Given the description of an element on the screen output the (x, y) to click on. 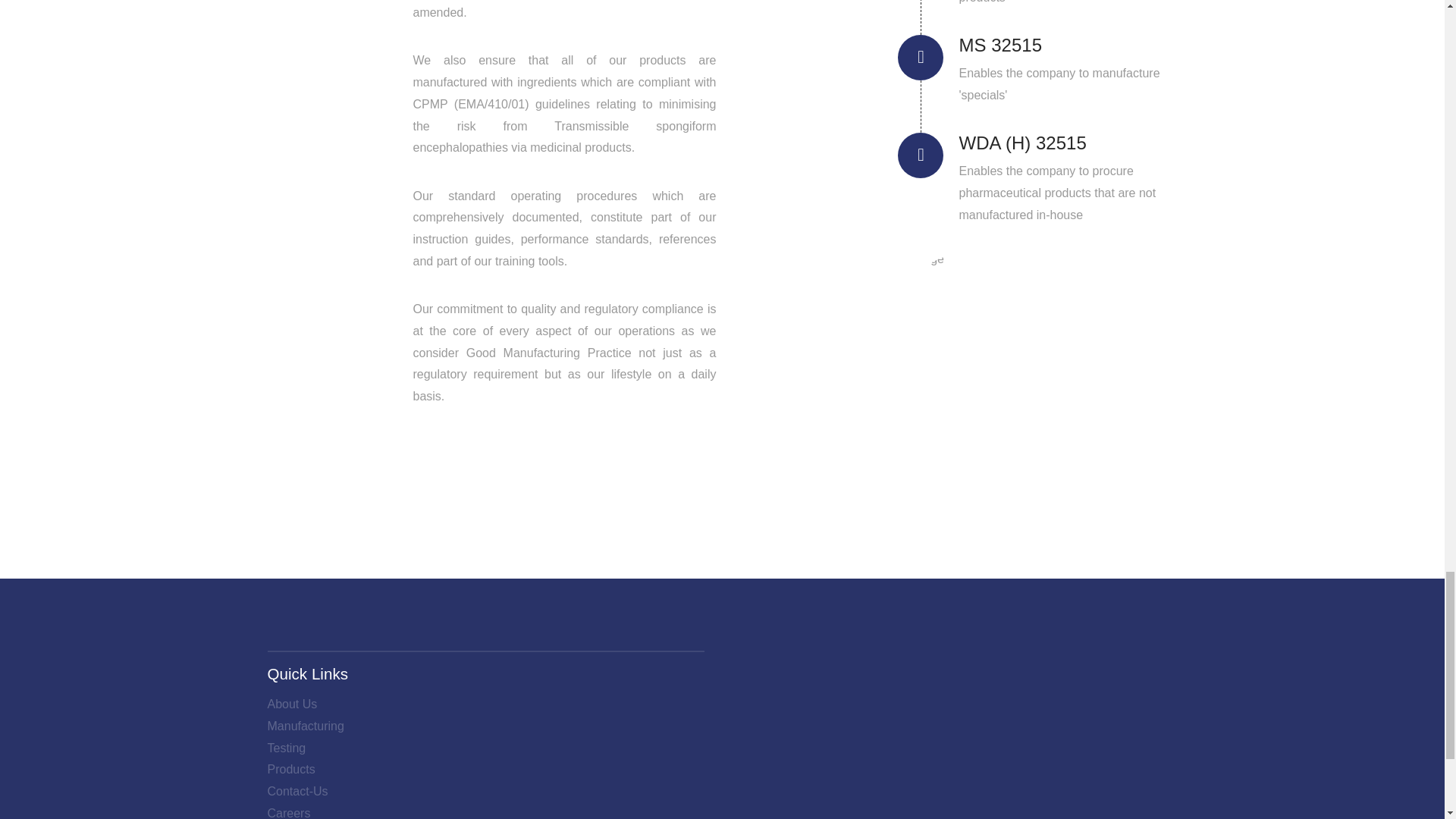
Manufacturing (304, 726)
About Us (291, 704)
Careers (288, 811)
Contact-Us (296, 792)
Products (290, 770)
Testing (285, 748)
